Given the description of an element on the screen output the (x, y) to click on. 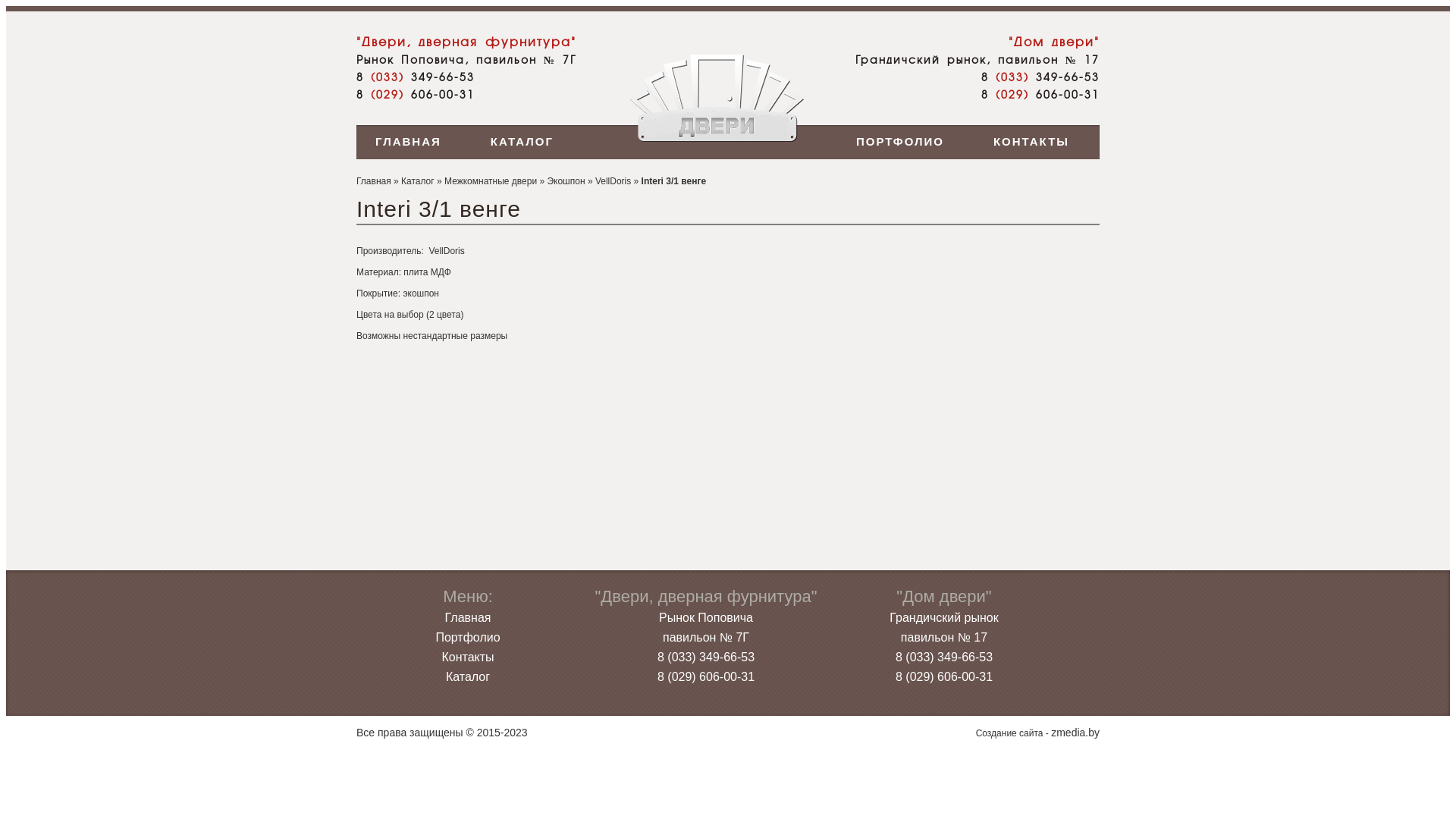
zmedia.by Element type: text (1075, 732)
VellDoris Element type: text (612, 180)
